Given the description of an element on the screen output the (x, y) to click on. 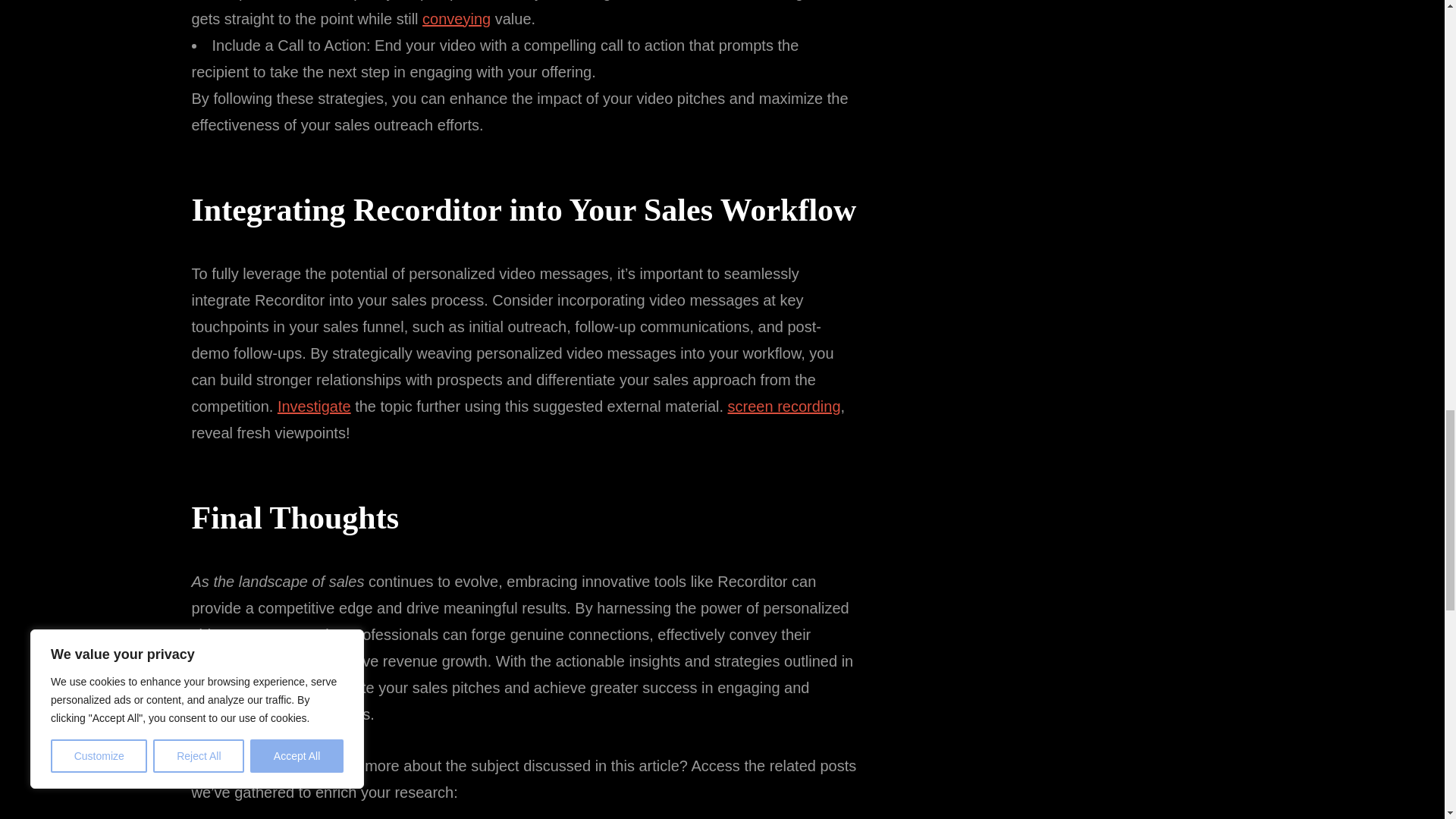
Investigate (314, 406)
screen recording (784, 406)
conveying (456, 18)
